Given the description of an element on the screen output the (x, y) to click on. 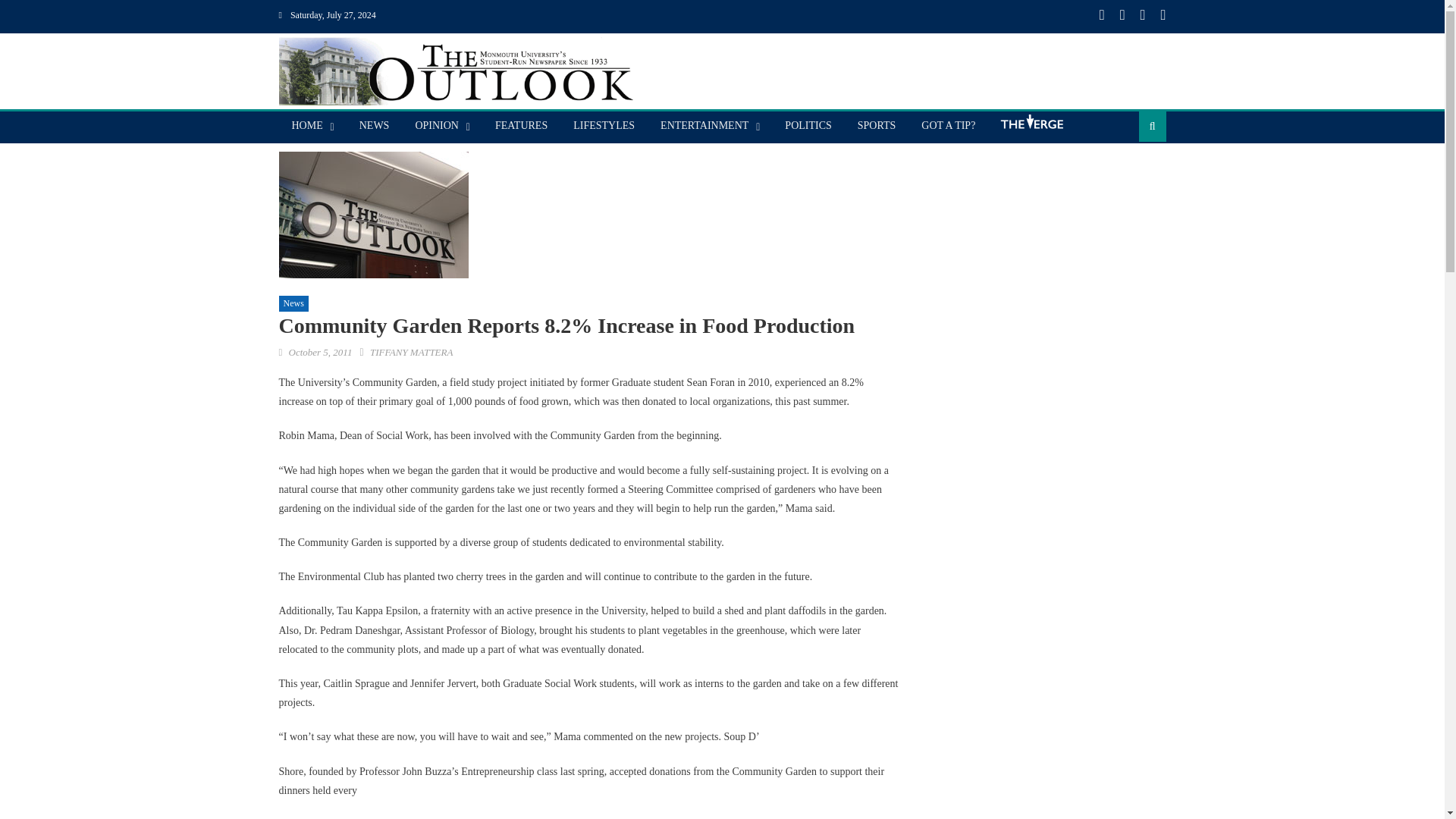
SPORTS (876, 125)
GOT A TIP? (948, 125)
October 5, 2011 (320, 351)
THE VERGE (1030, 127)
NEWS (374, 125)
POLITICS (808, 125)
FEATURES (521, 125)
OPINION (436, 125)
Search (1128, 175)
LIFESTYLES (604, 125)
Posts by TIFFANY MATTERA (410, 351)
News (293, 303)
ENTERTAINMENT (704, 125)
HOME (307, 125)
TIFFANY MATTERA (410, 351)
